Given the description of an element on the screen output the (x, y) to click on. 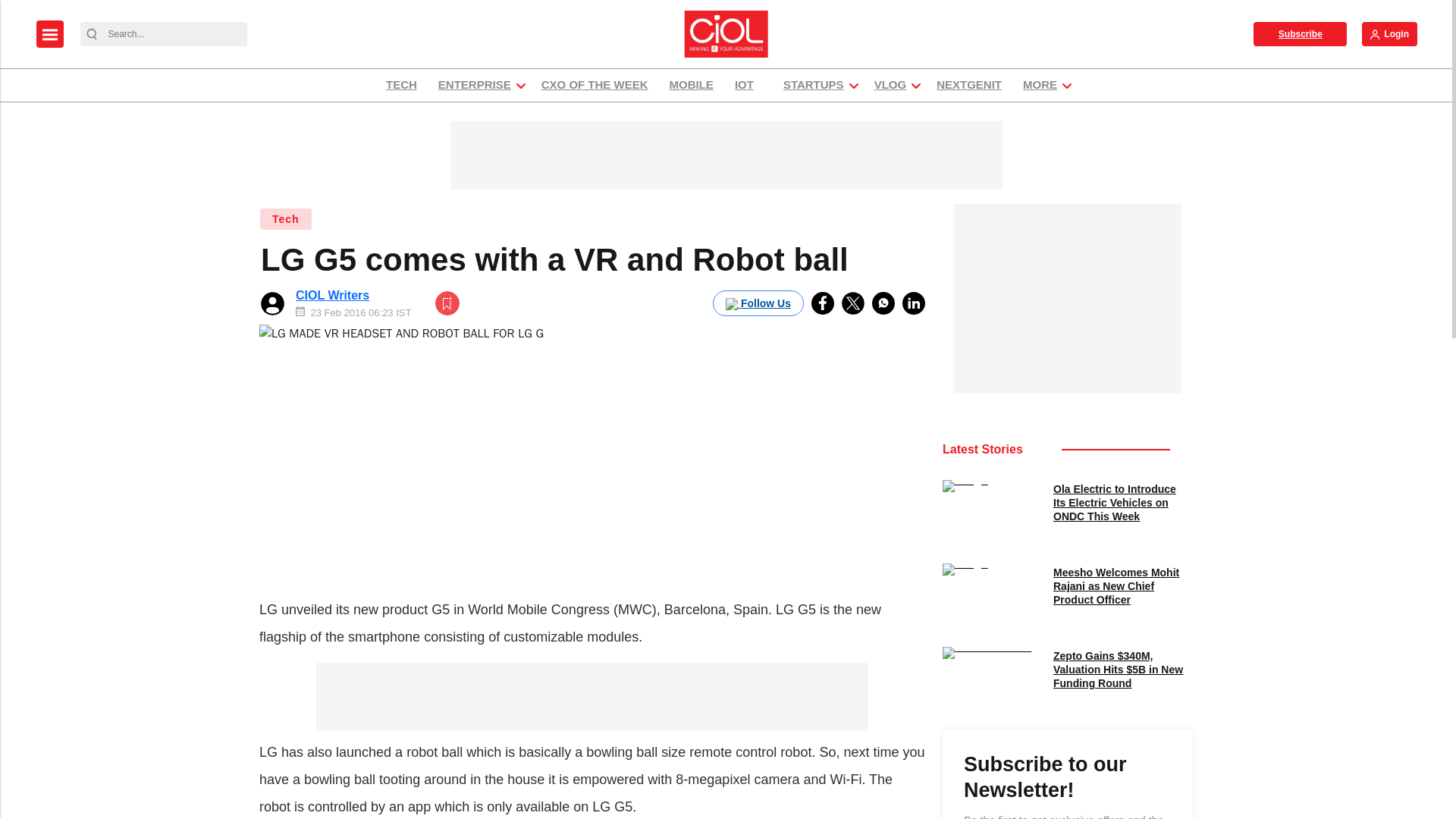
CXO OF THE WEEK (594, 84)
MOBILE (691, 84)
Subscribe (1299, 33)
STARTUPS (812, 84)
VLOG (890, 84)
Login (1388, 33)
TECH (401, 84)
MORE (1039, 84)
NEXTGENIT (969, 84)
IOT (748, 84)
